Given the description of an element on the screen output the (x, y) to click on. 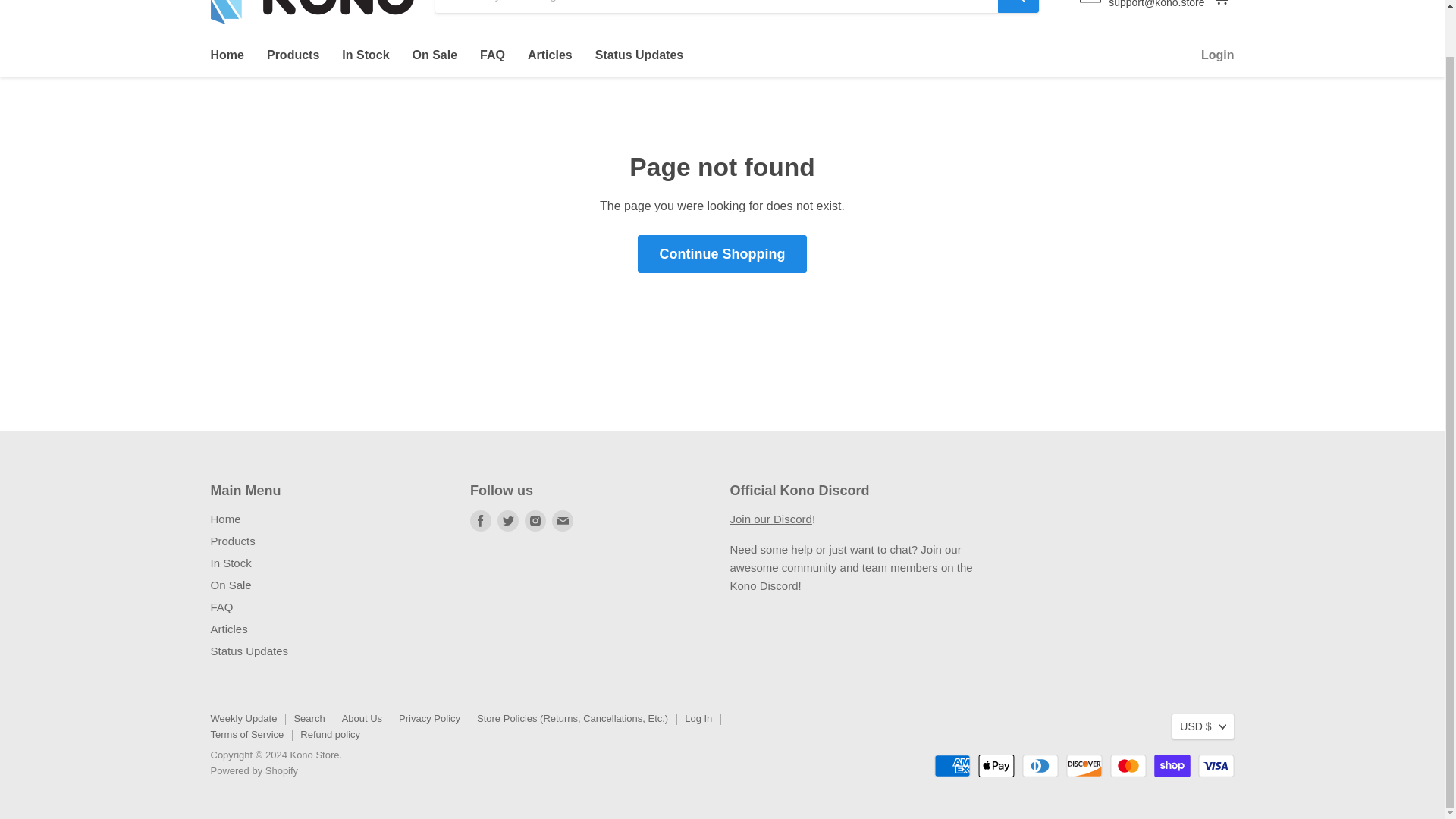
Shop Pay (1172, 765)
Status Updates (249, 650)
Apple Pay (996, 765)
Email (562, 520)
Find us on Email (562, 520)
Products (293, 55)
Find us on Twitter (507, 520)
Login (1217, 55)
Find us on Instagram (535, 520)
Mastercard (1128, 765)
